Given the description of an element on the screen output the (x, y) to click on. 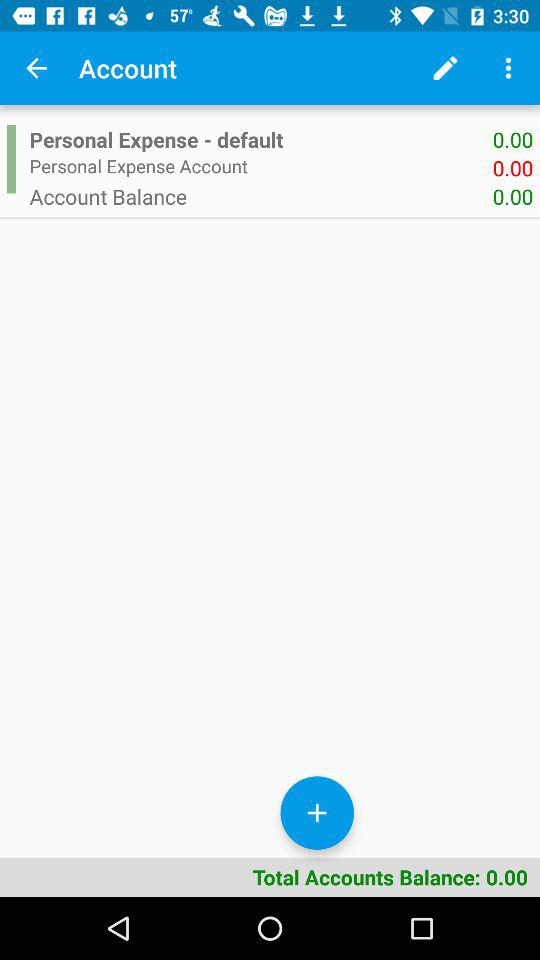
menu (508, 67)
